Given the description of an element on the screen output the (x, y) to click on. 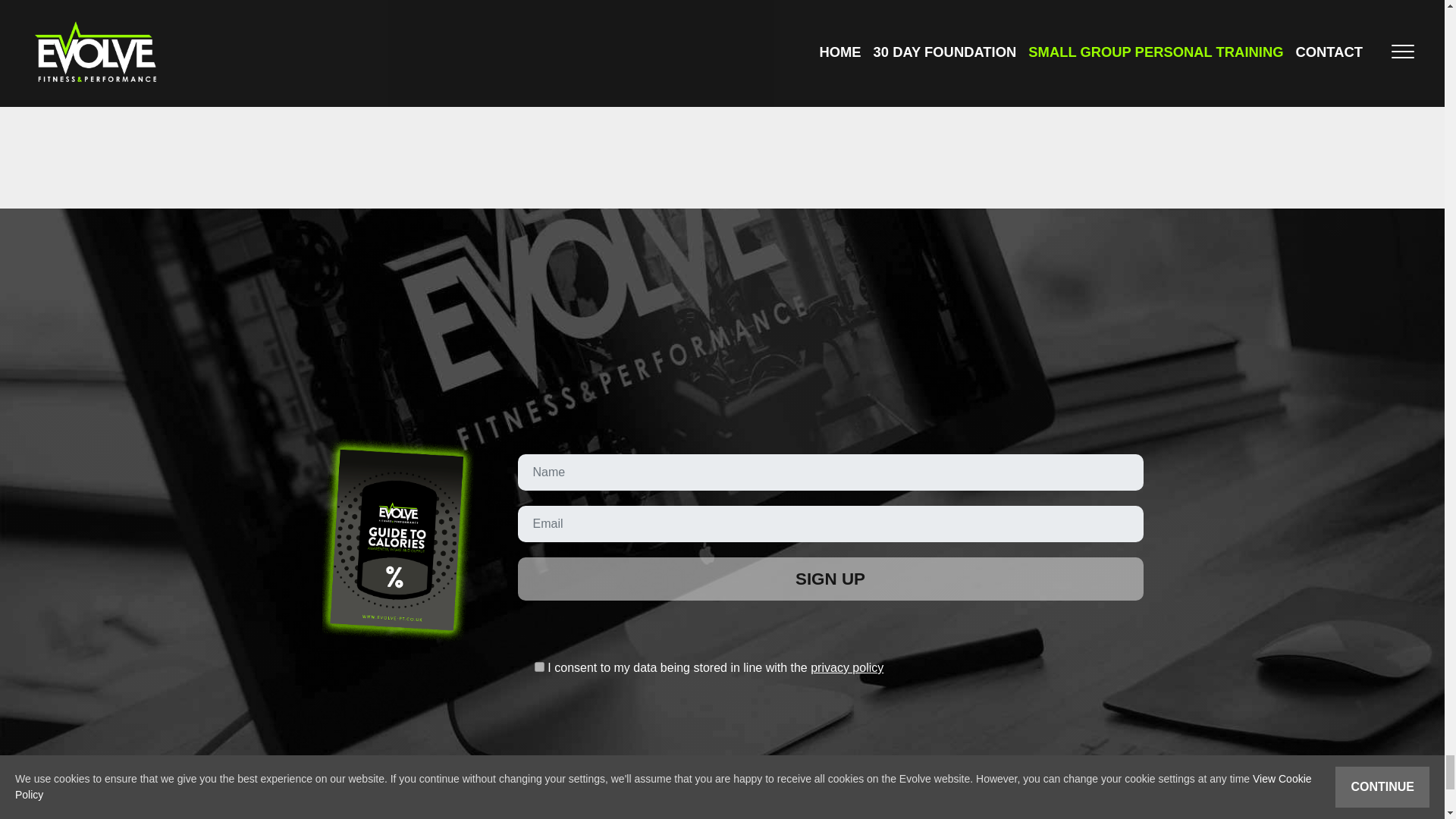
Sign Up (829, 579)
1 (539, 666)
